Given the description of an element on the screen output the (x, y) to click on. 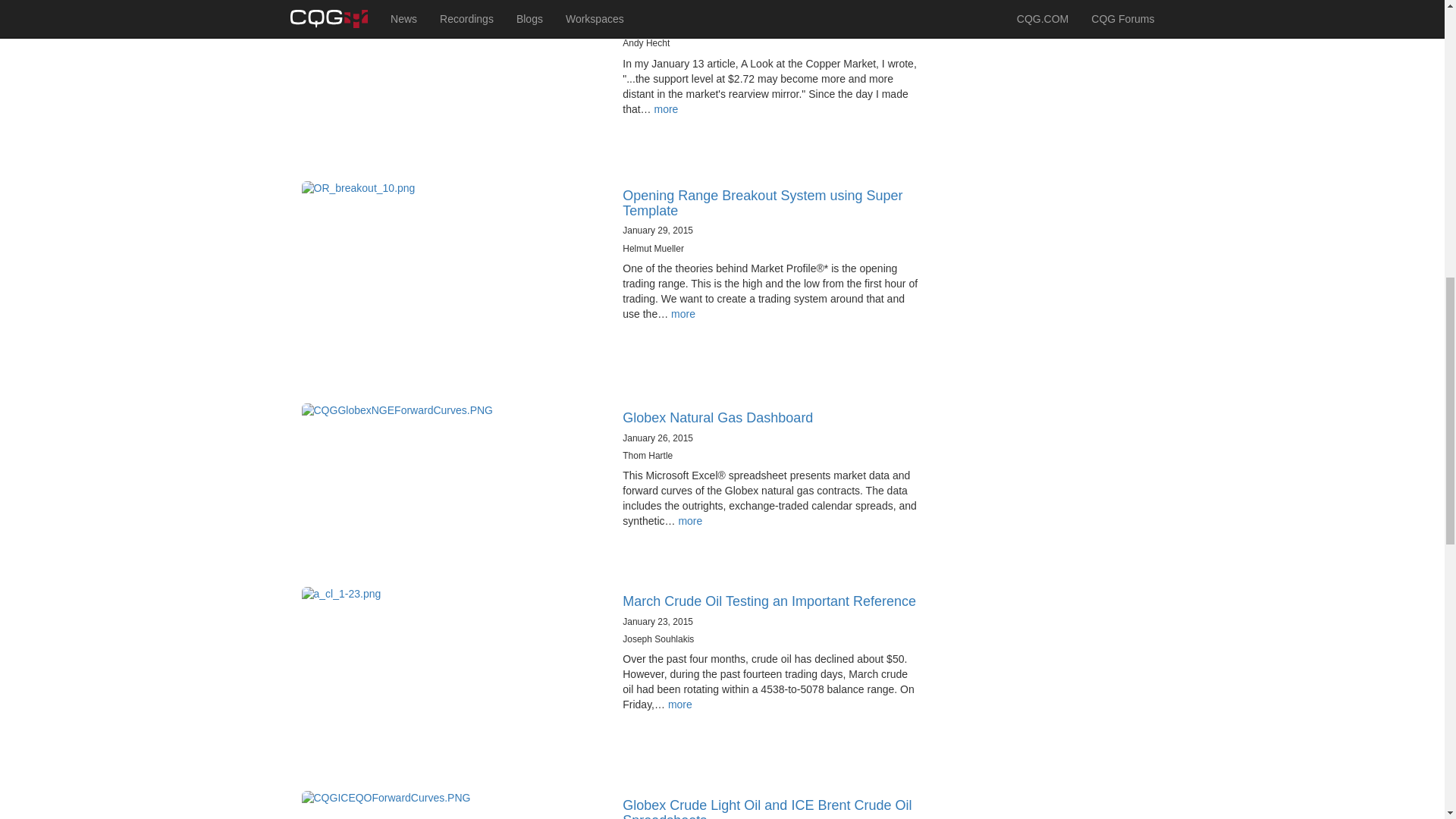
Globex Natural Gas Dashboard (717, 417)
Opening Range Breakout System using Super Template (762, 203)
Globex Crude Light Oil and ICE Brent Crude Oil Spreadsheets (767, 808)
A Follow Up on Copper (692, 6)
more (680, 704)
more (689, 521)
more (665, 109)
March Crude Oil Testing an Important Reference (769, 601)
more (683, 313)
